Given the description of an element on the screen output the (x, y) to click on. 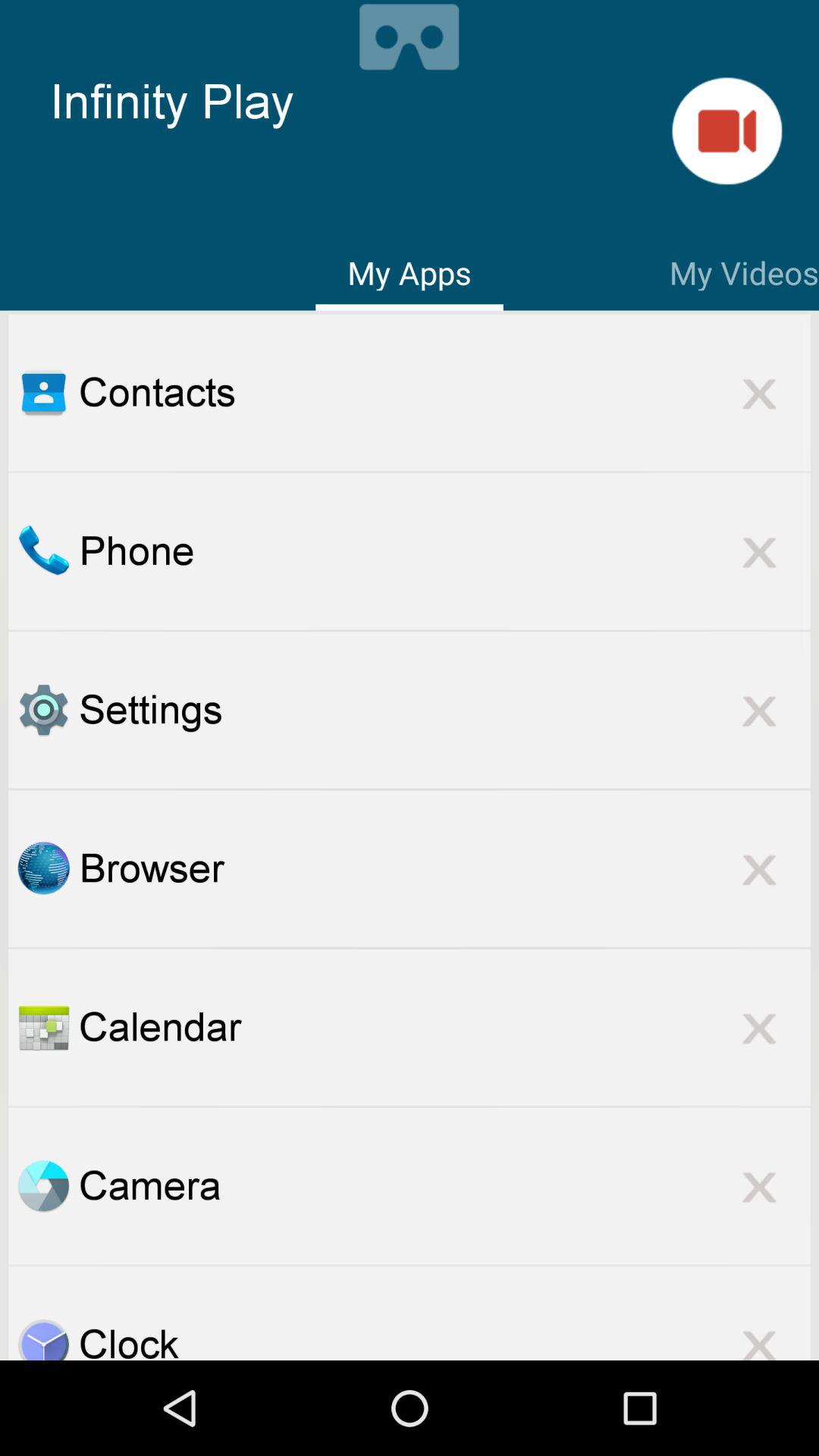
go to close (759, 1027)
